Given the description of an element on the screen output the (x, y) to click on. 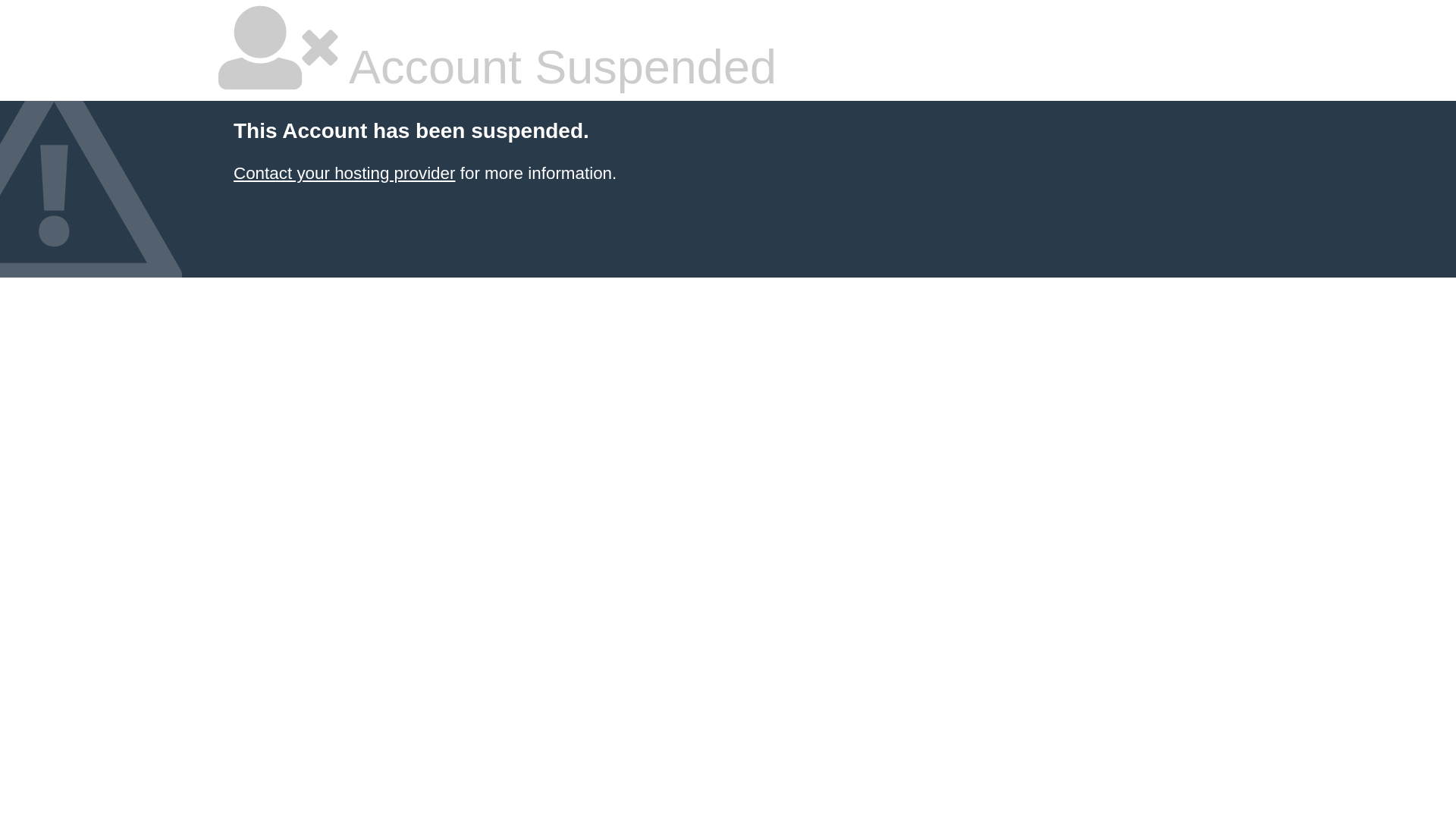
Contact your hosting provider Element type: text (344, 172)
